Given the description of an element on the screen output the (x, y) to click on. 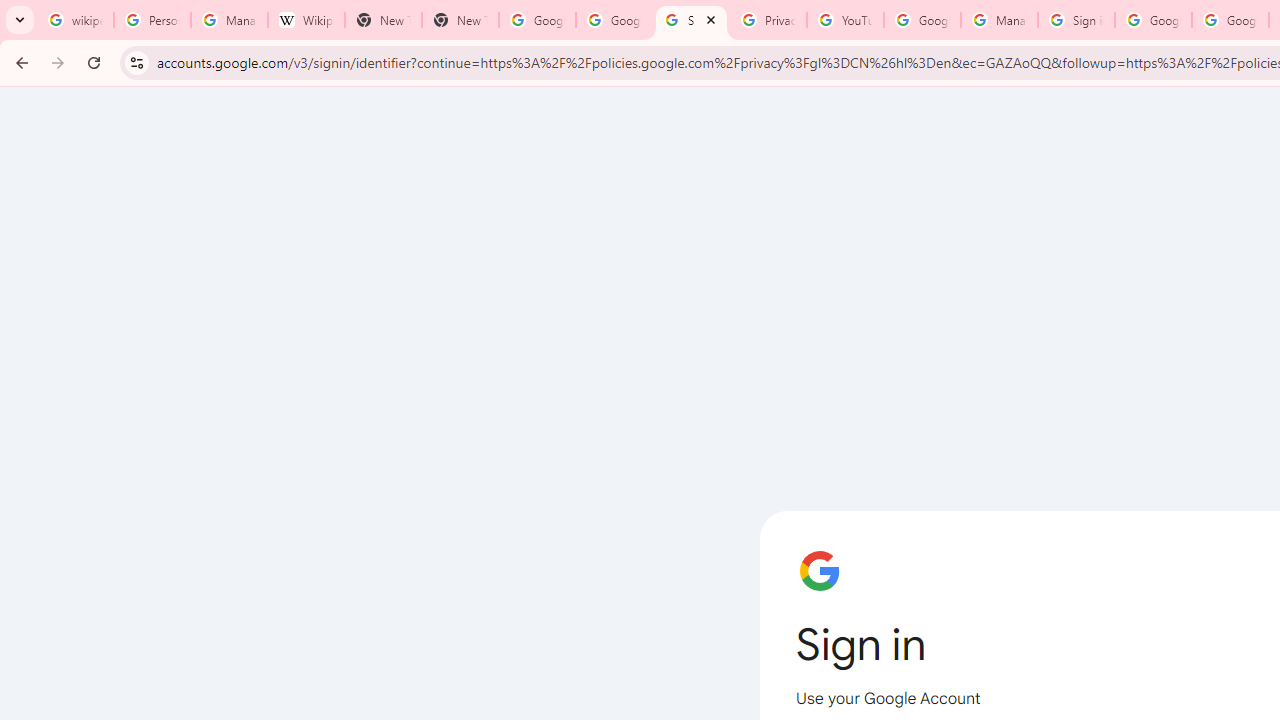
Wikipedia:Edit requests - Wikipedia (306, 20)
Sign in - Google Accounts (690, 20)
Google Drive: Sign-in (614, 20)
Google Account Help (922, 20)
Personalization & Google Search results - Google Search Help (151, 20)
